Given the description of an element on the screen output the (x, y) to click on. 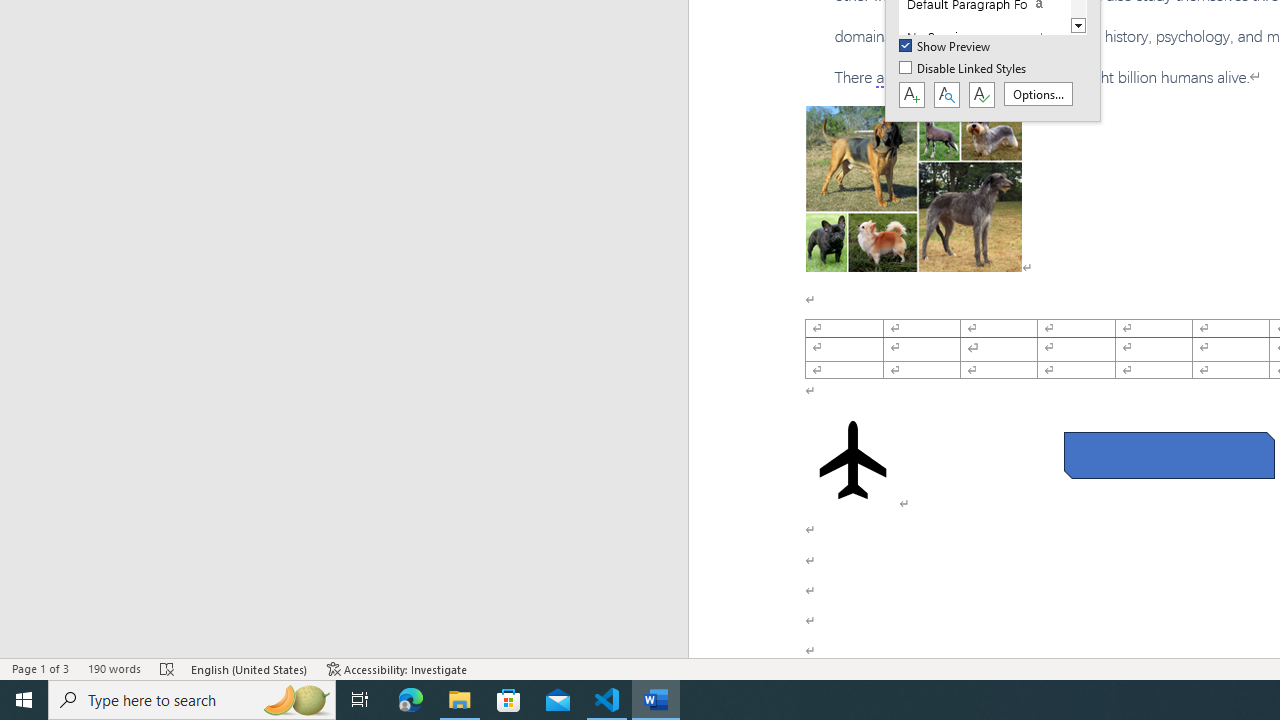
Options... (1037, 93)
No Spacing (984, 37)
Show Preview (946, 47)
Class: NetUIButton (981, 95)
Accessibility Checker Accessibility: Investigate (397, 668)
Spelling and Grammar Check Errors (168, 668)
Disable Linked Styles (964, 69)
Airplane with solid fill (852, 459)
Morphological variation in six dogs (913, 188)
Rectangle: Diagonal Corners Snipped 2 (1168, 455)
Page Number Page 1 of 3 (39, 668)
Language English (United States) (250, 668)
Class: NetUIImage (971, 37)
